Given the description of an element on the screen output the (x, y) to click on. 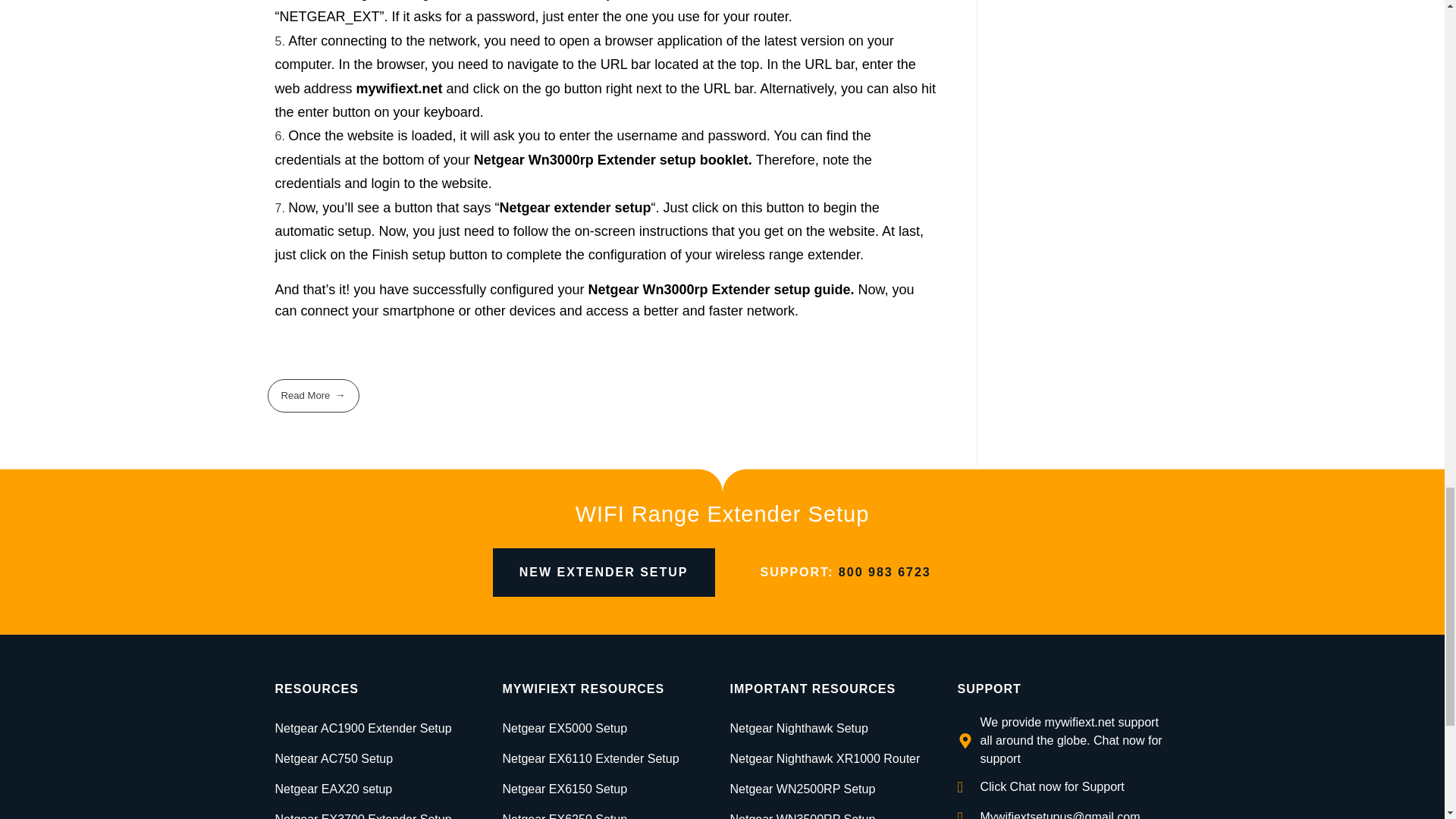
Netgear extender setup (574, 207)
Read More (312, 395)
mywifiext.net (399, 88)
